Given the description of an element on the screen output the (x, y) to click on. 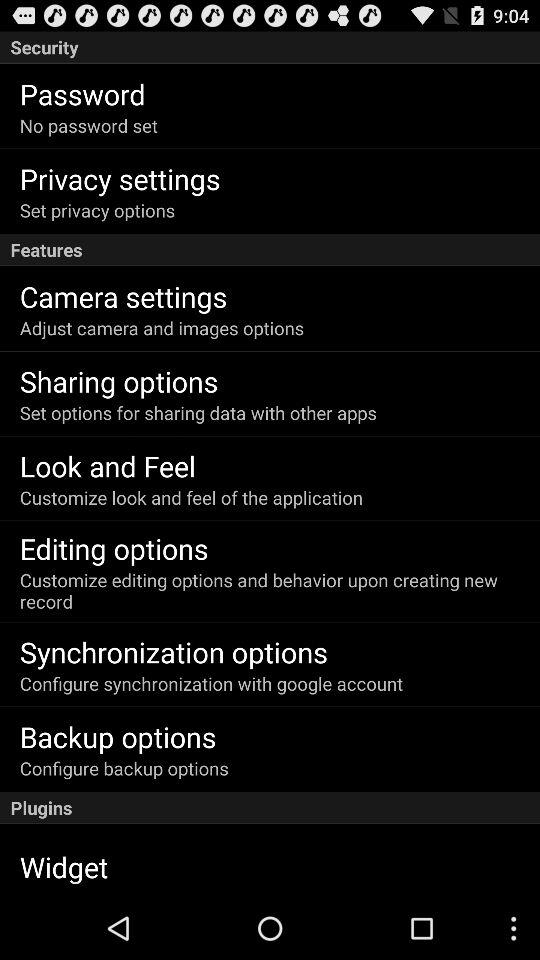
swipe until the plugins item (270, 807)
